Given the description of an element on the screen output the (x, y) to click on. 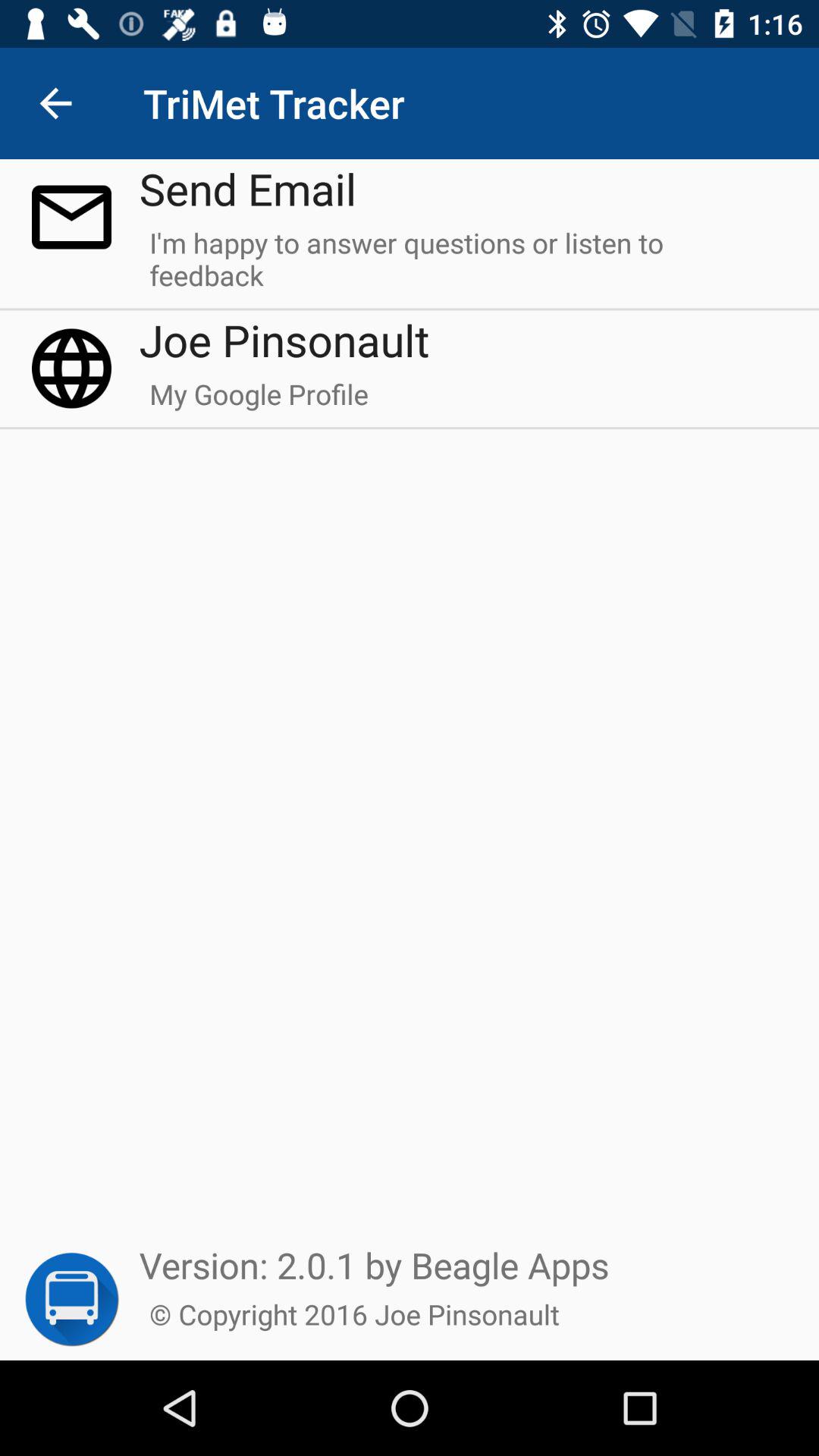
open my google profile (258, 401)
